Given the description of an element on the screen output the (x, y) to click on. 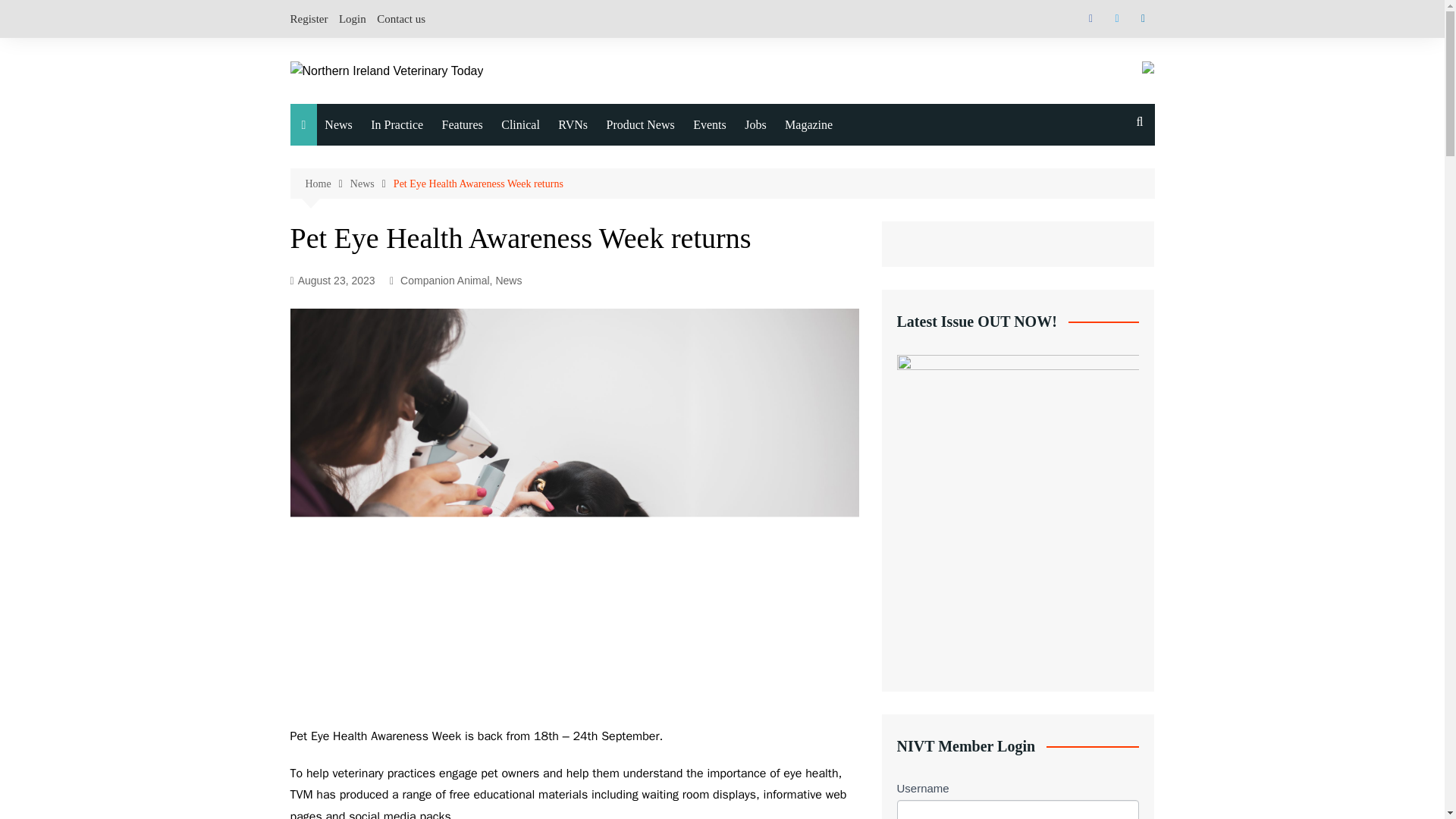
News (371, 184)
General (400, 287)
About us (860, 161)
In Practice (396, 125)
Home (326, 184)
CPD (517, 224)
Marketing Opportunities (860, 389)
Magazine (808, 125)
Product News (640, 125)
Equine (400, 193)
Features (461, 125)
Twitter (1116, 18)
Login (352, 18)
Companion Animal (400, 161)
August 23, 2023 (331, 280)
